Given the description of an element on the screen output the (x, y) to click on. 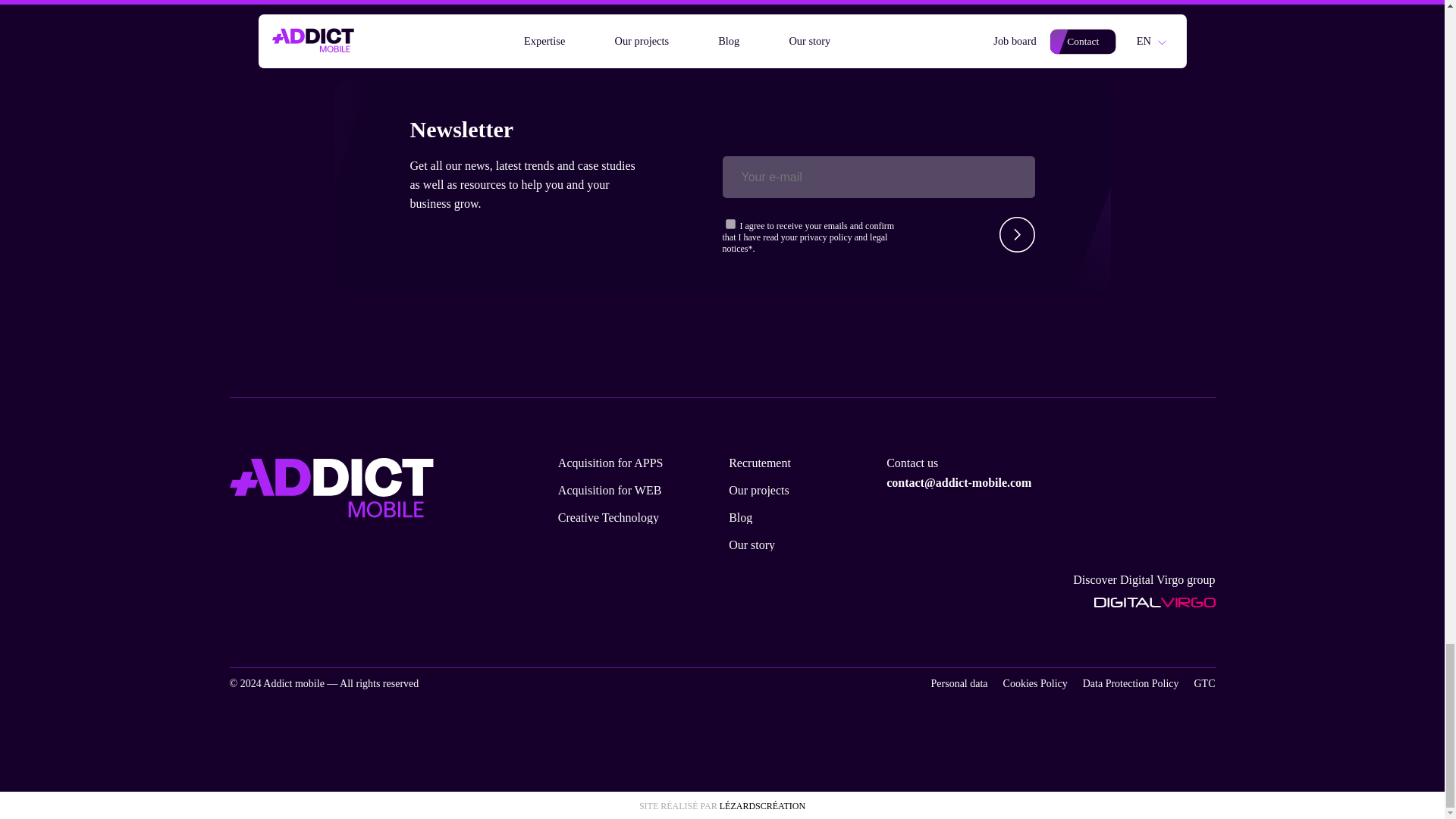
Creative Technology (608, 517)
1 (730, 223)
Acquisition for WEB (609, 490)
Recrutement (759, 462)
Our projects (759, 490)
Acquisition for APPS (610, 462)
